Given the description of an element on the screen output the (x, y) to click on. 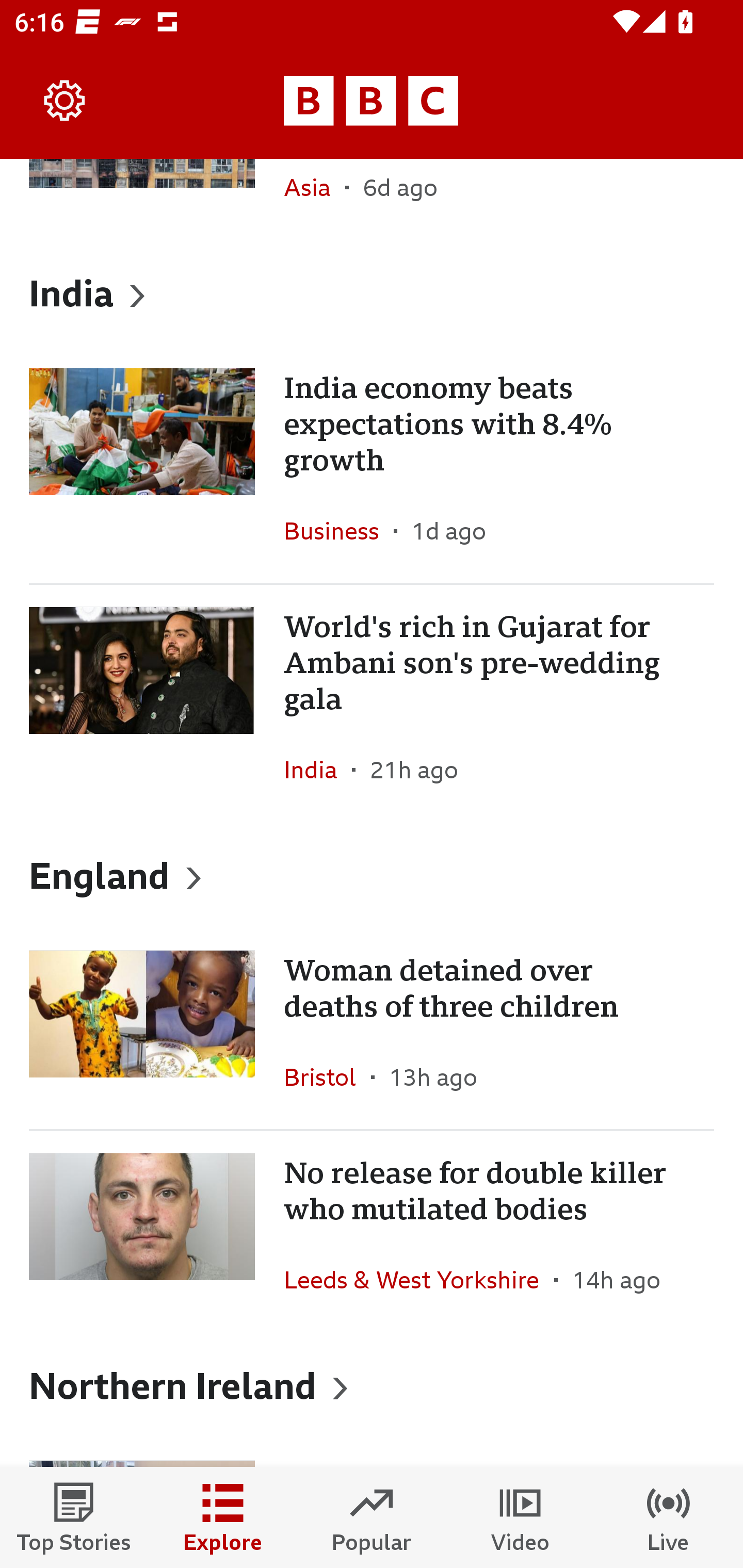
Settings (64, 100)
India, Heading India    (371, 292)
Business In the section Business (338, 530)
India In the section India (317, 769)
England, Heading England    (371, 874)
Bristol In the section Bristol (326, 1076)
Northern Ireland, Heading Northern Ireland    (371, 1384)
Top Stories (74, 1517)
Popular (371, 1517)
Video (519, 1517)
Live (668, 1517)
